Given the description of an element on the screen output the (x, y) to click on. 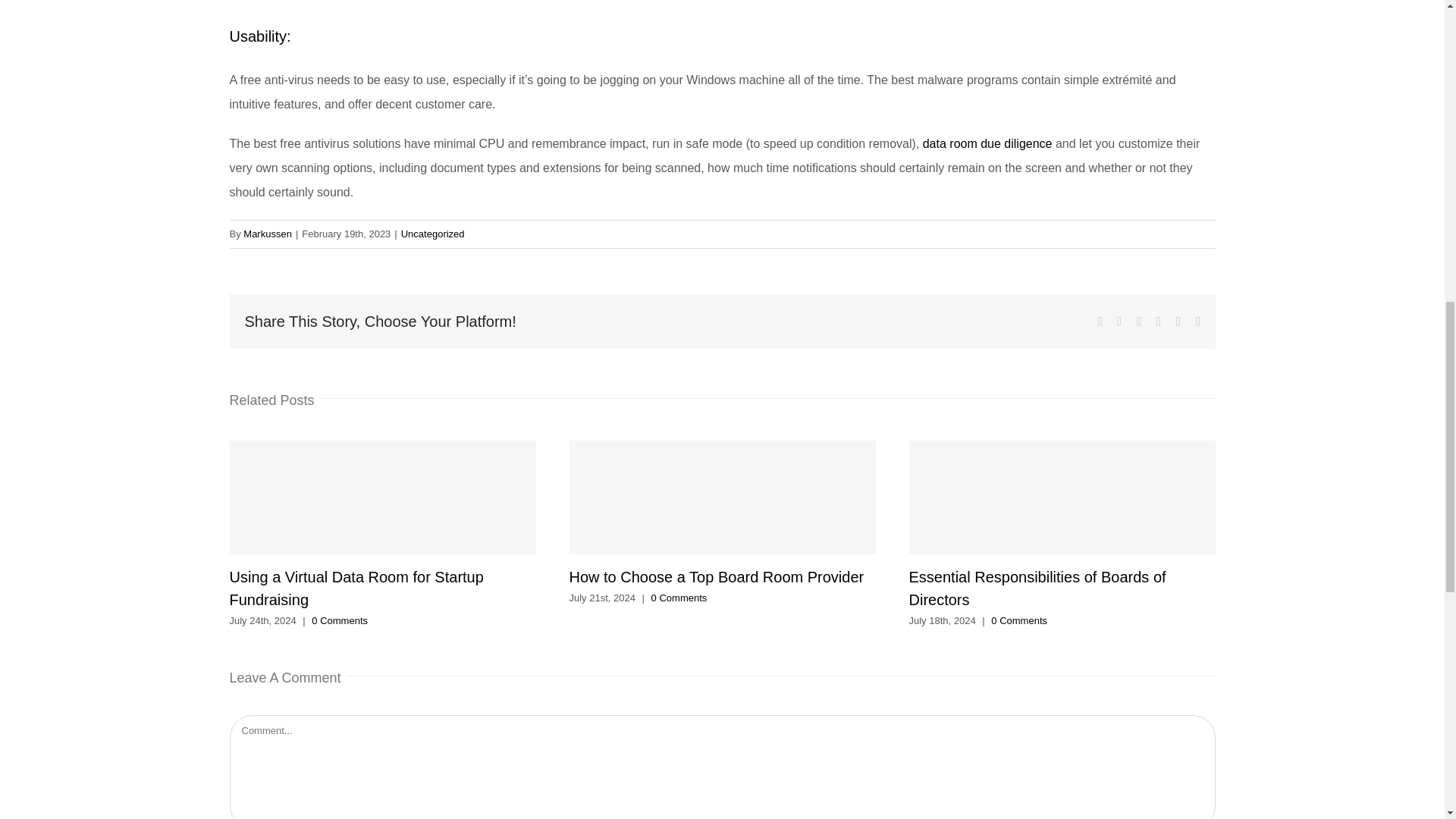
Uncategorized (432, 233)
Markussen (267, 233)
Posts by Markussen (267, 233)
Essential Responsibilities of Boards of Directors (1037, 588)
How to Choose a Top Board Room Provider (716, 576)
data room due diligence (987, 143)
Using a Virtual Data Room for Startup Fundraising (355, 588)
